Given the description of an element on the screen output the (x, y) to click on. 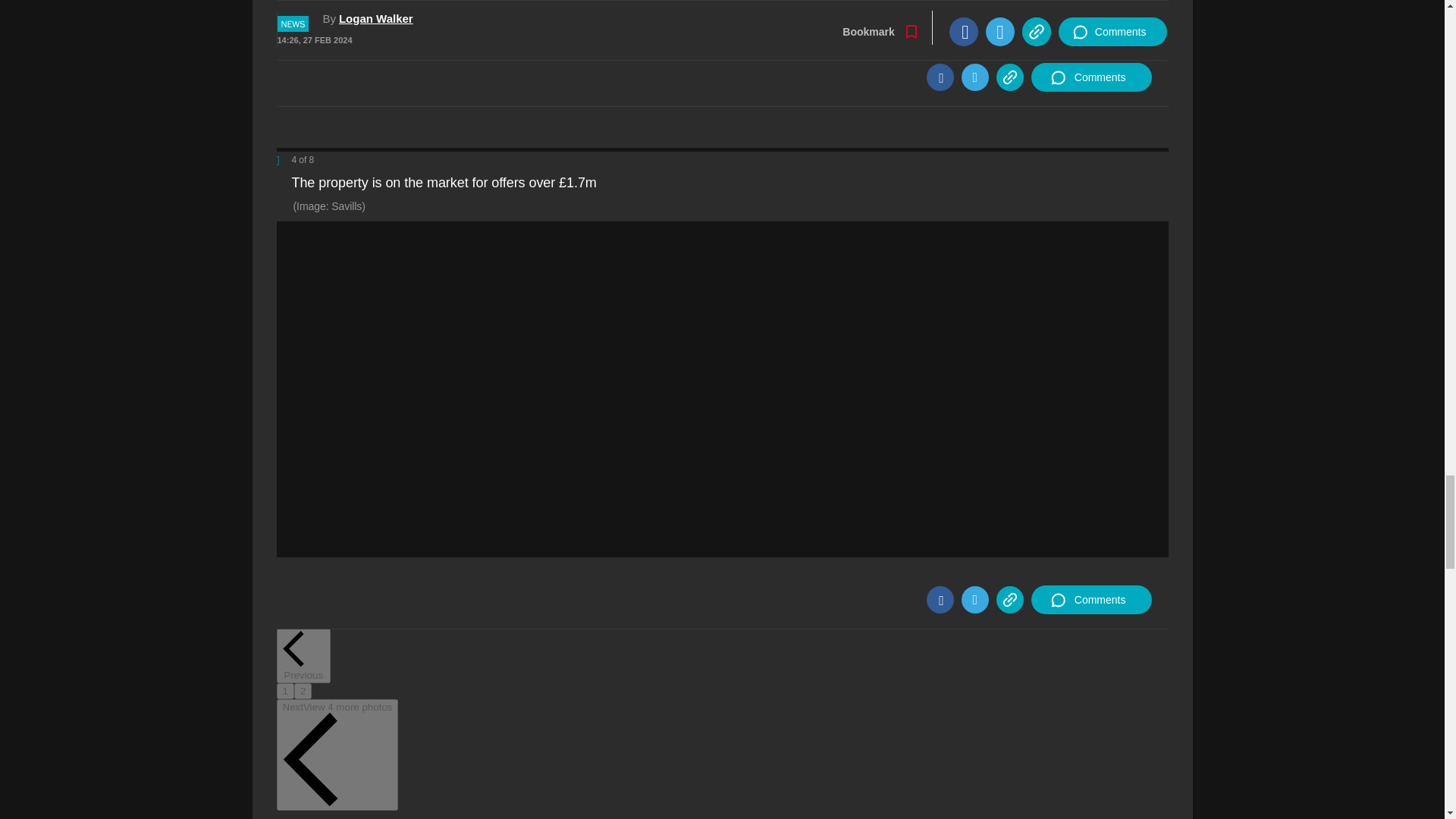
Twitter (974, 76)
Facebook (939, 599)
Facebook (939, 76)
Comments (1090, 77)
